Given the description of an element on the screen output the (x, y) to click on. 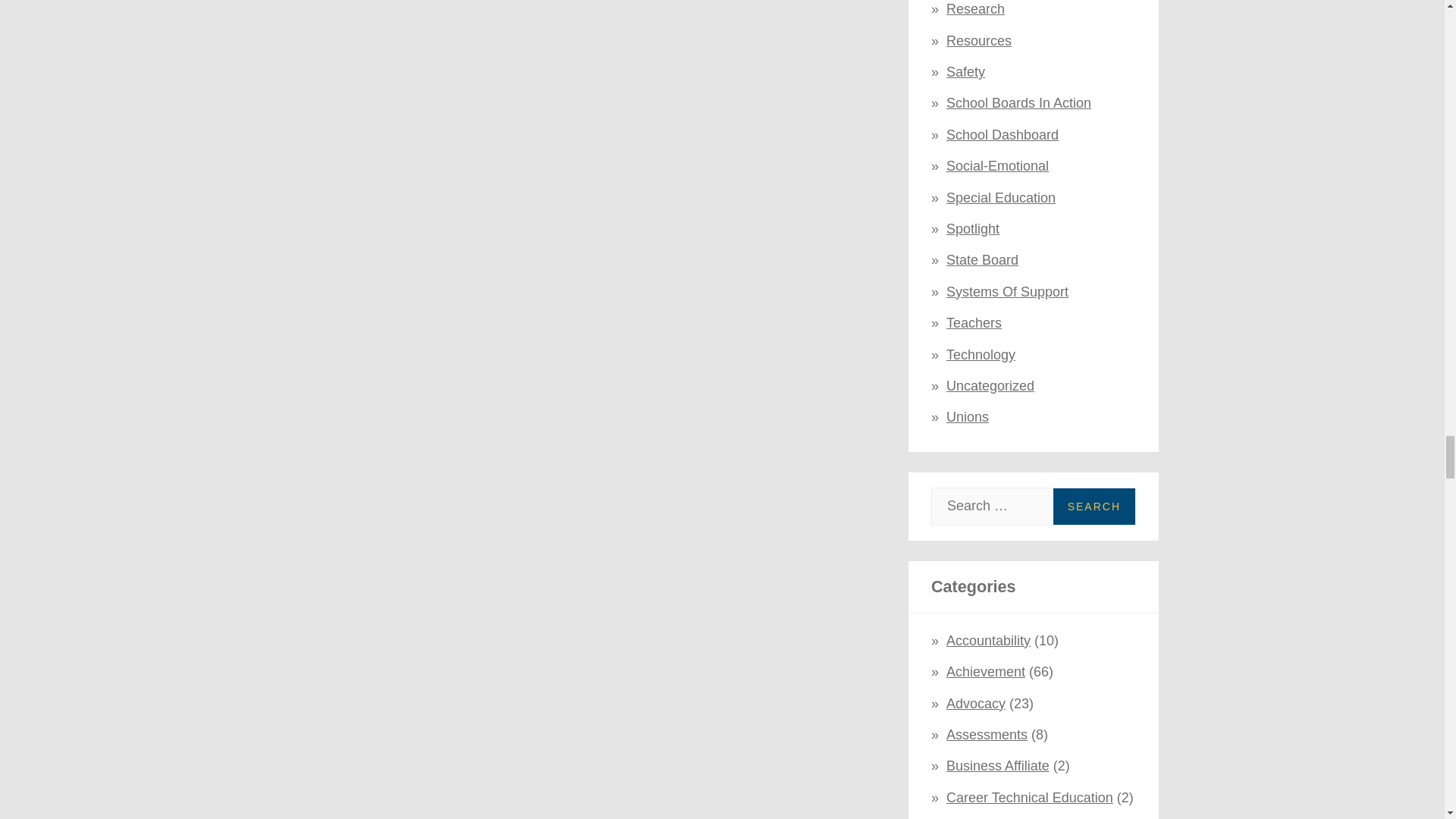
Search (1093, 506)
Search (1093, 506)
